Given the description of an element on the screen output the (x, y) to click on. 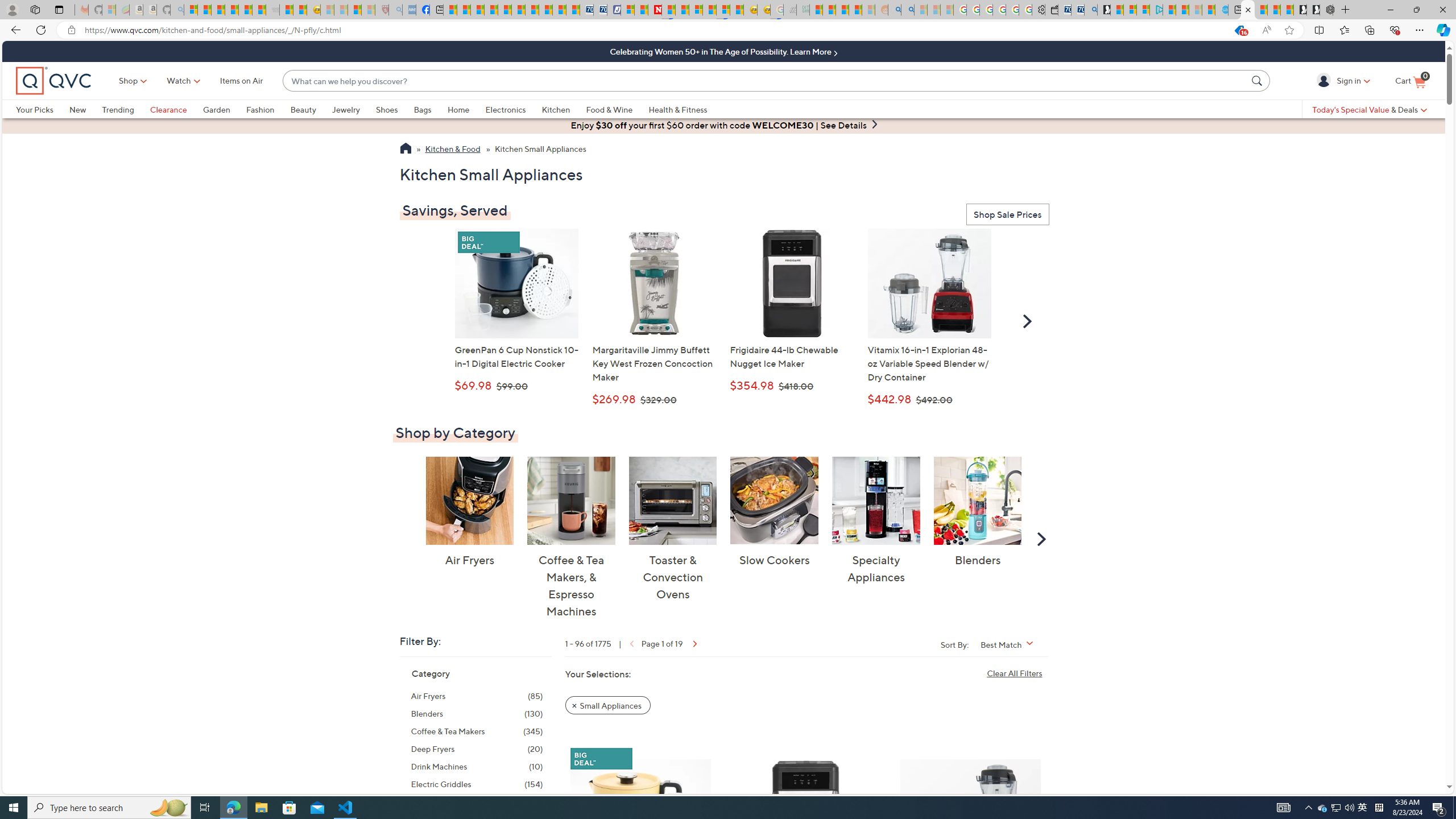
Next Page (693, 643)
Return to QVC Homepage (405, 149)
Today's Special Value & Deals (1369, 109)
Remove Filter: Small Appliances (607, 705)
Bags (421, 109)
Your Picks (34, 109)
Coffee & Tea Makers, & Espresso Machines (571, 500)
Latest Politics News & Archive | Newsweek.com (654, 9)
